Given the description of an element on the screen output the (x, y) to click on. 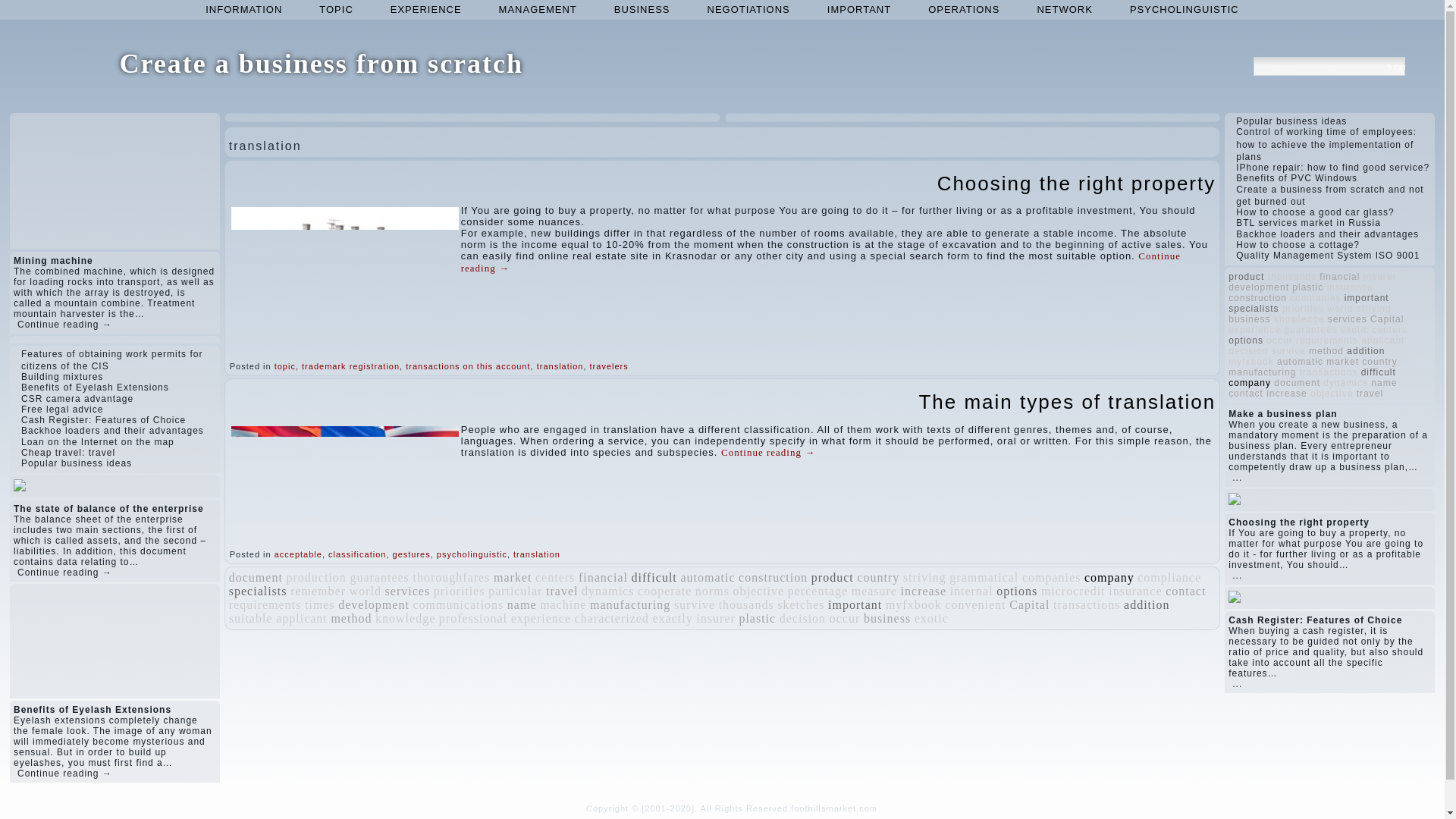
management (537, 9)
MANAGEMENT (537, 9)
Cash Register: Features of Choice (103, 419)
psycholinguistic (471, 553)
Search (1396, 66)
trademark registration (349, 366)
acceptable (298, 553)
Create a business from scratch (320, 63)
IMPORTANT (858, 9)
EXPERIENCE (426, 9)
